Given the description of an element on the screen output the (x, y) to click on. 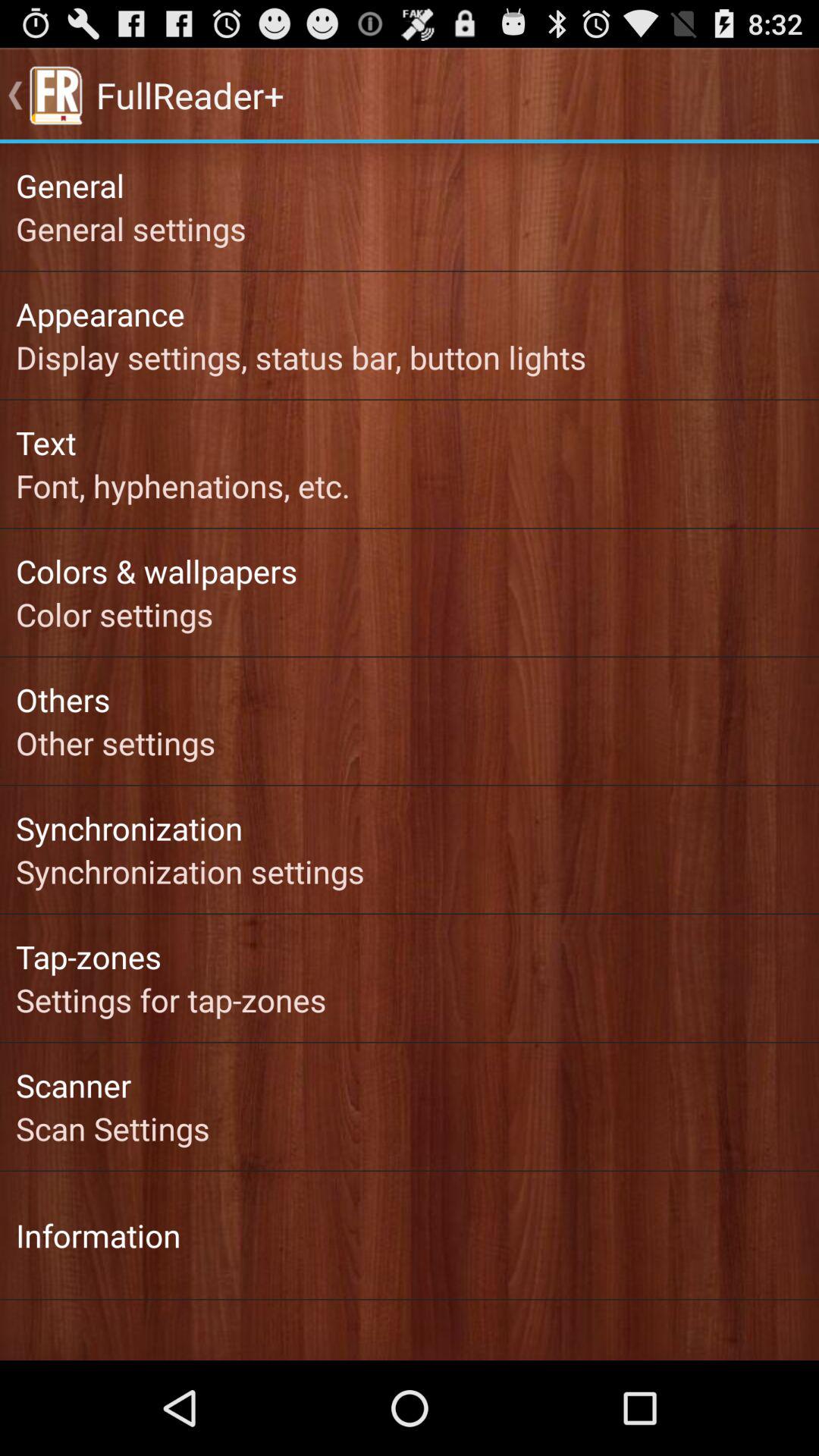
click on logo at top left (55, 95)
